Given the description of an element on the screen output the (x, y) to click on. 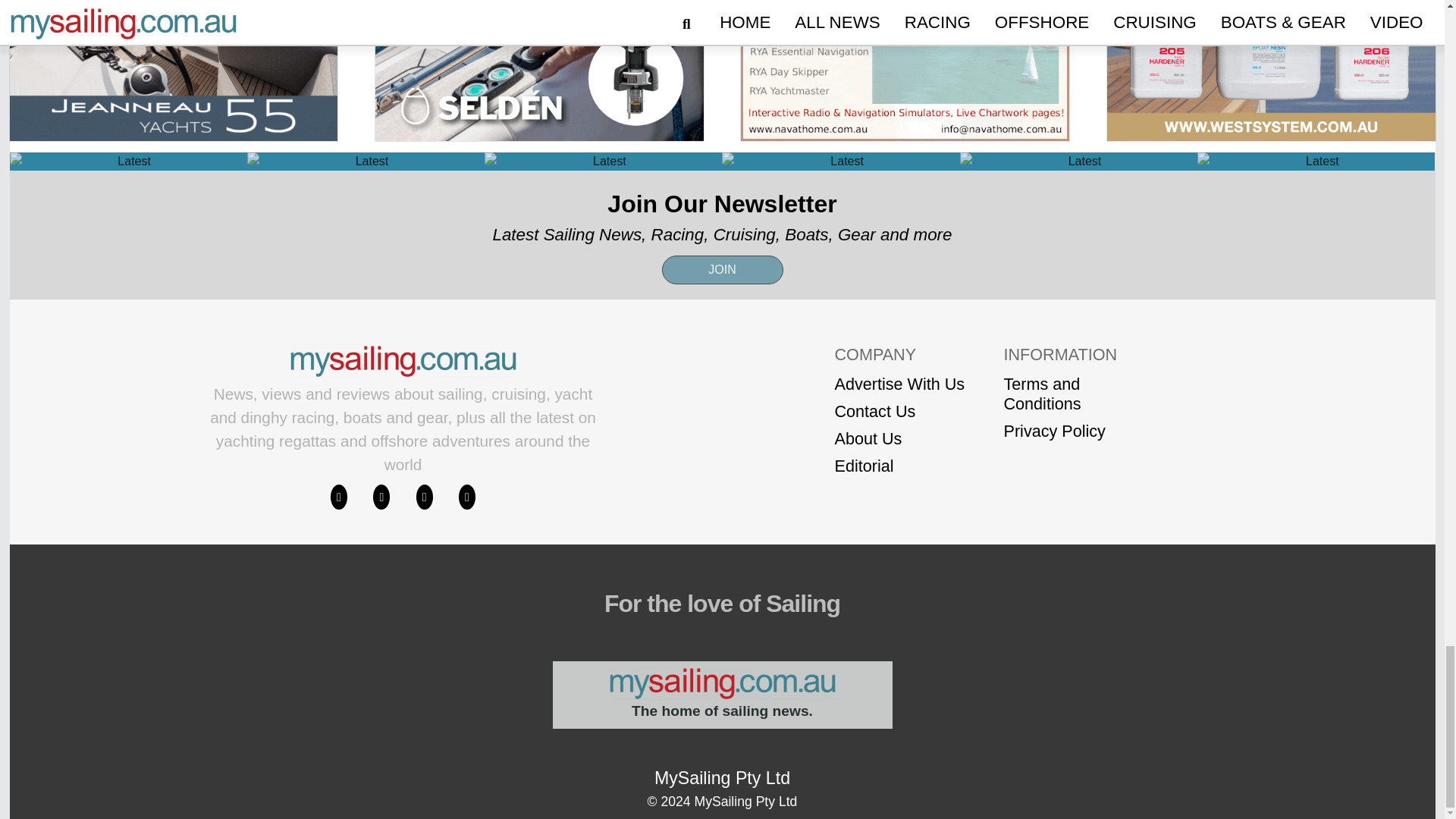
About Us (899, 438)
Editorial (899, 465)
Contact Us (899, 411)
Advertise With Us (899, 383)
